Given the description of an element on the screen output the (x, y) to click on. 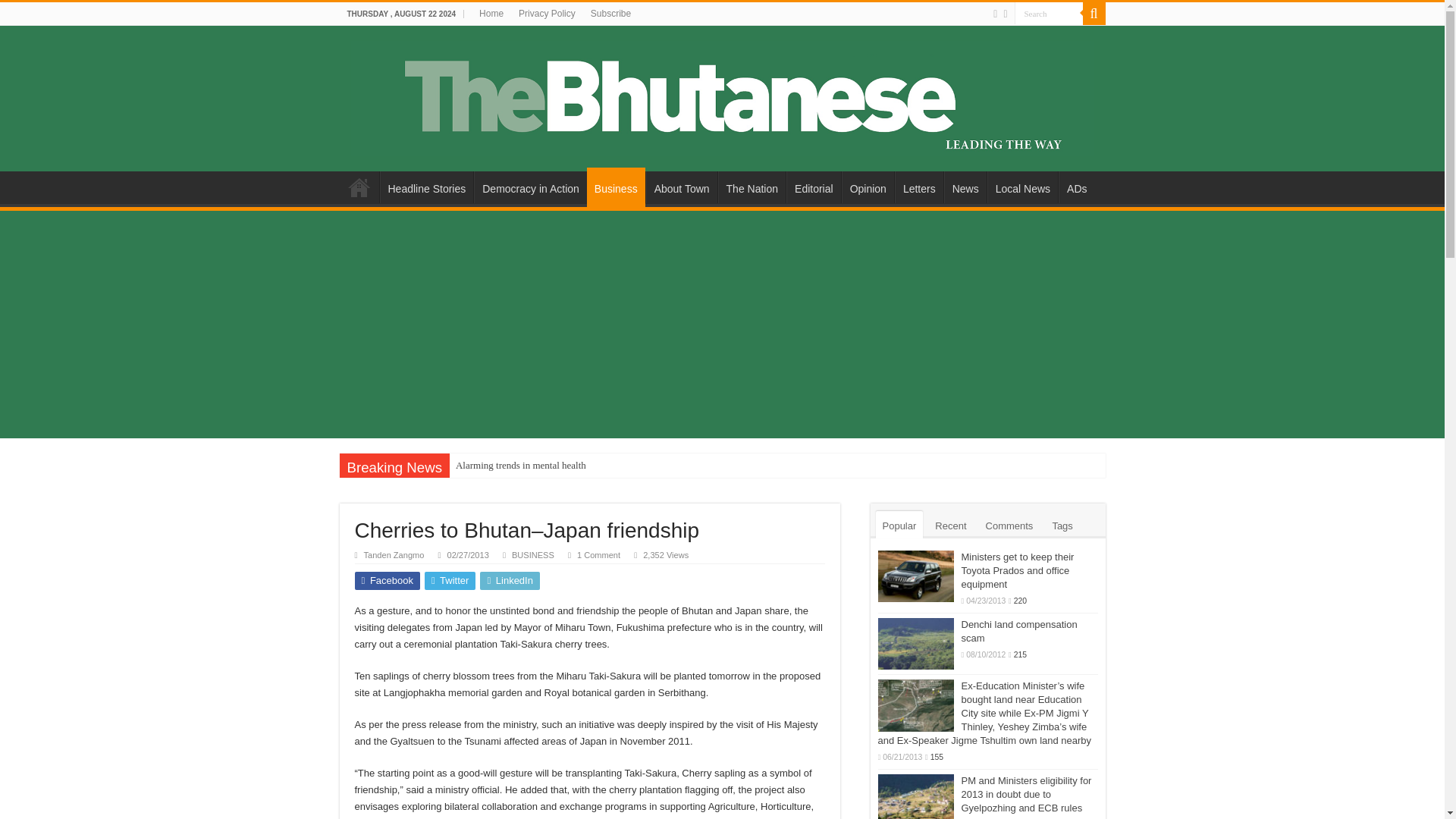
Privacy Policy (547, 13)
Search (1094, 13)
Search (1048, 13)
About Town (681, 187)
Alarming trends in mental health (520, 465)
Search (1048, 13)
Subscribe (611, 13)
Alarming trends in mental health (520, 465)
Headline Stories (425, 187)
The Bhutanese (721, 94)
